Given the description of an element on the screen output the (x, y) to click on. 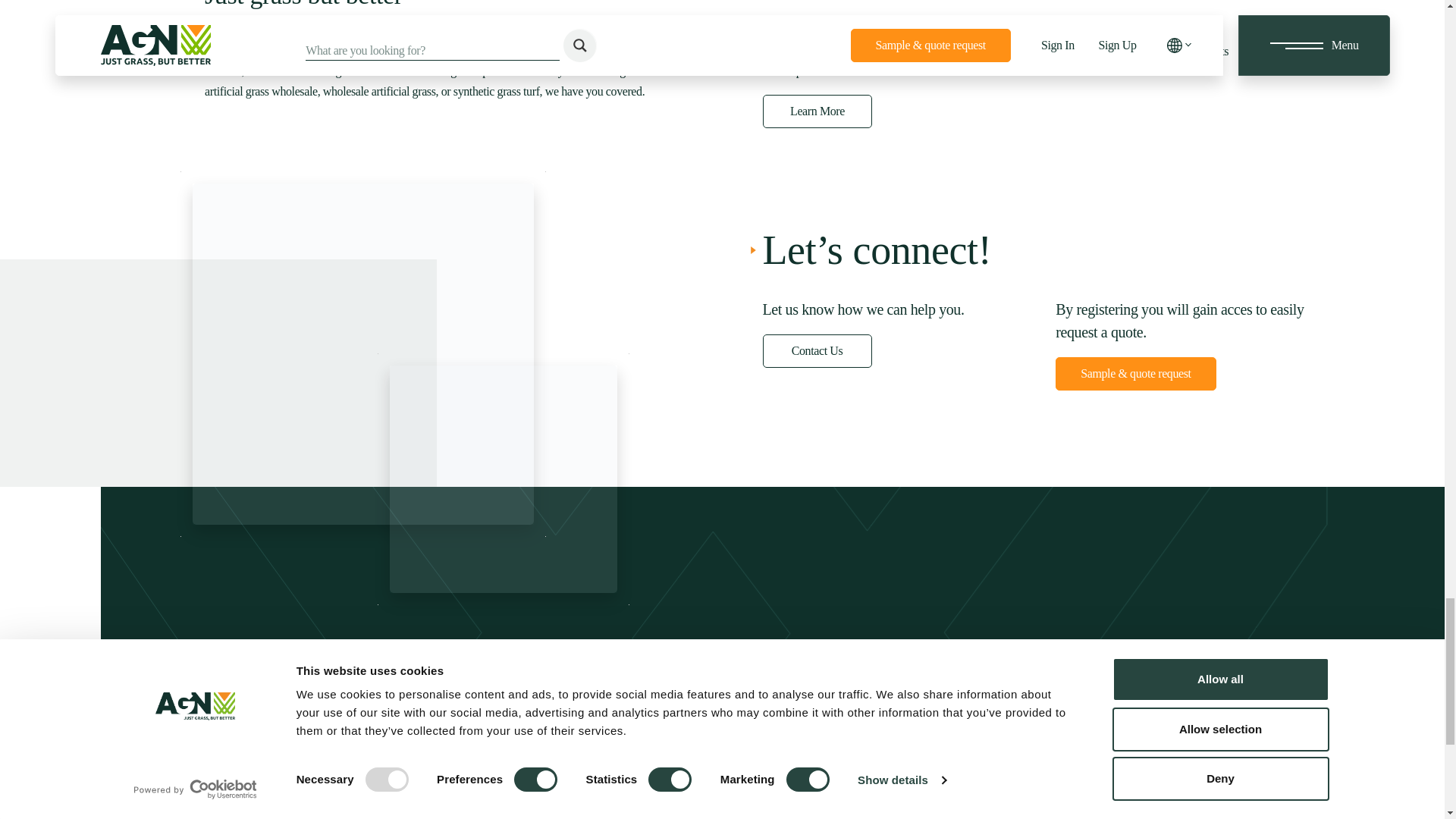
Submit (711, 699)
About (817, 111)
